Given the description of an element on the screen output the (x, y) to click on. 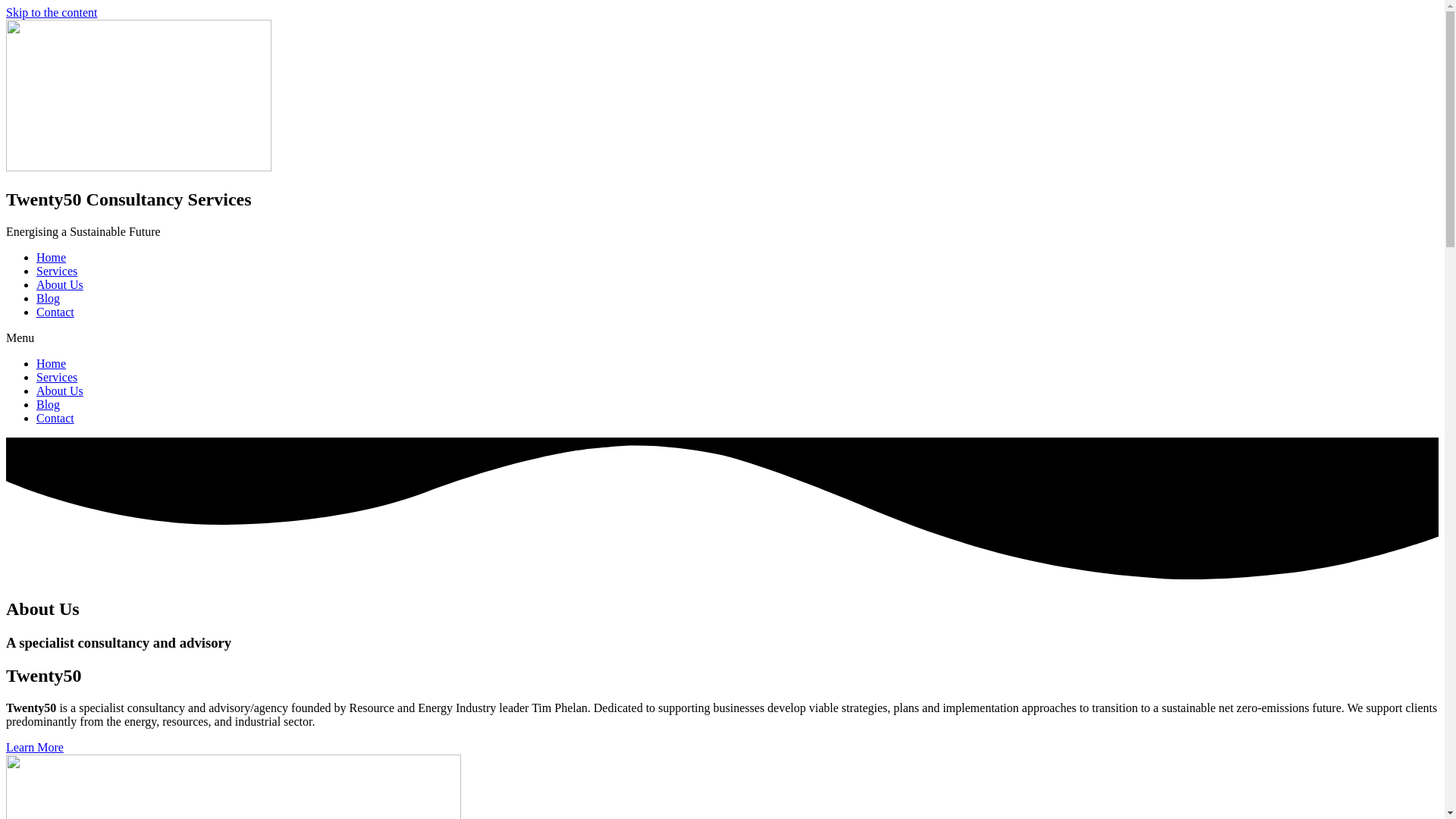
Skip to the content Element type: text (51, 12)
Blog Element type: text (47, 404)
About Us Element type: text (59, 390)
Learn More Element type: text (34, 746)
Home Element type: text (50, 363)
About Us Element type: text (59, 284)
Home Element type: text (50, 257)
Services Element type: text (56, 376)
Blog Element type: text (47, 297)
Contact Element type: text (55, 417)
Contact Element type: text (55, 311)
Services Element type: text (56, 270)
